Given the description of an element on the screen output the (x, y) to click on. 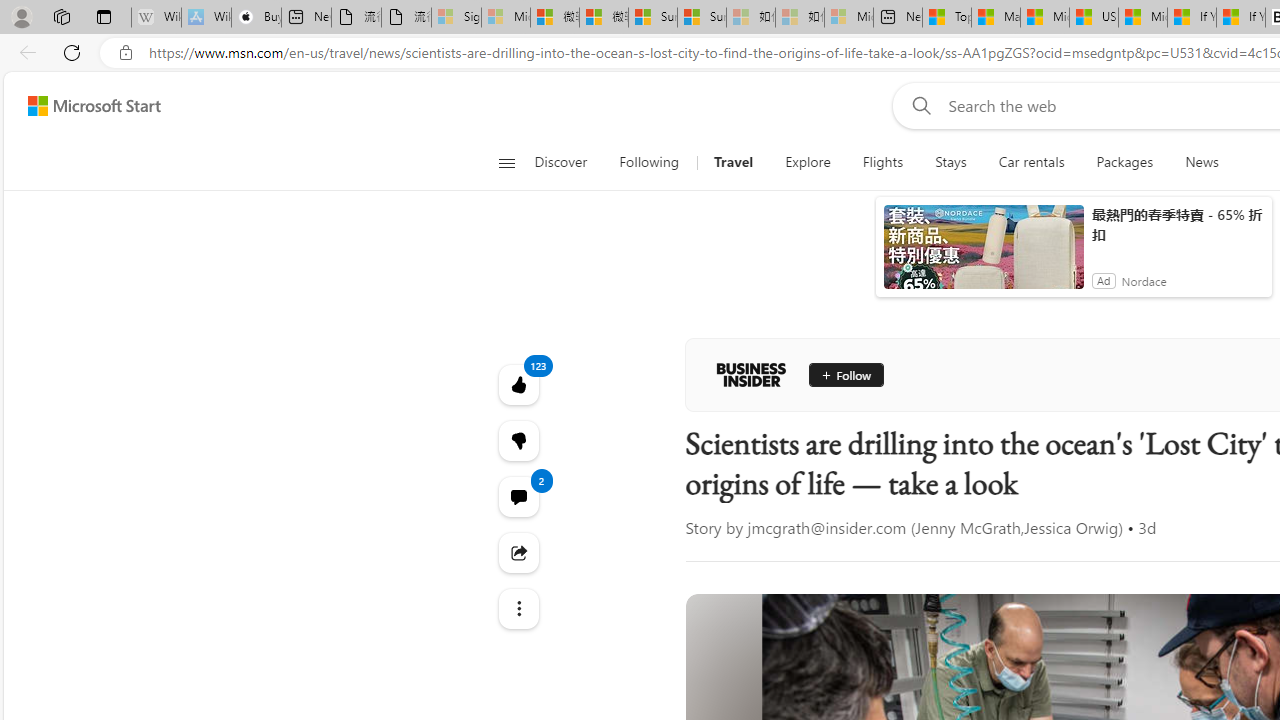
Packages (1124, 162)
Stays (950, 162)
Car rentals (1031, 162)
Sign in to your Microsoft account - Sleeping (456, 17)
Stays (951, 162)
Share this story (517, 552)
Explore (808, 162)
